Given the description of an element on the screen output the (x, y) to click on. 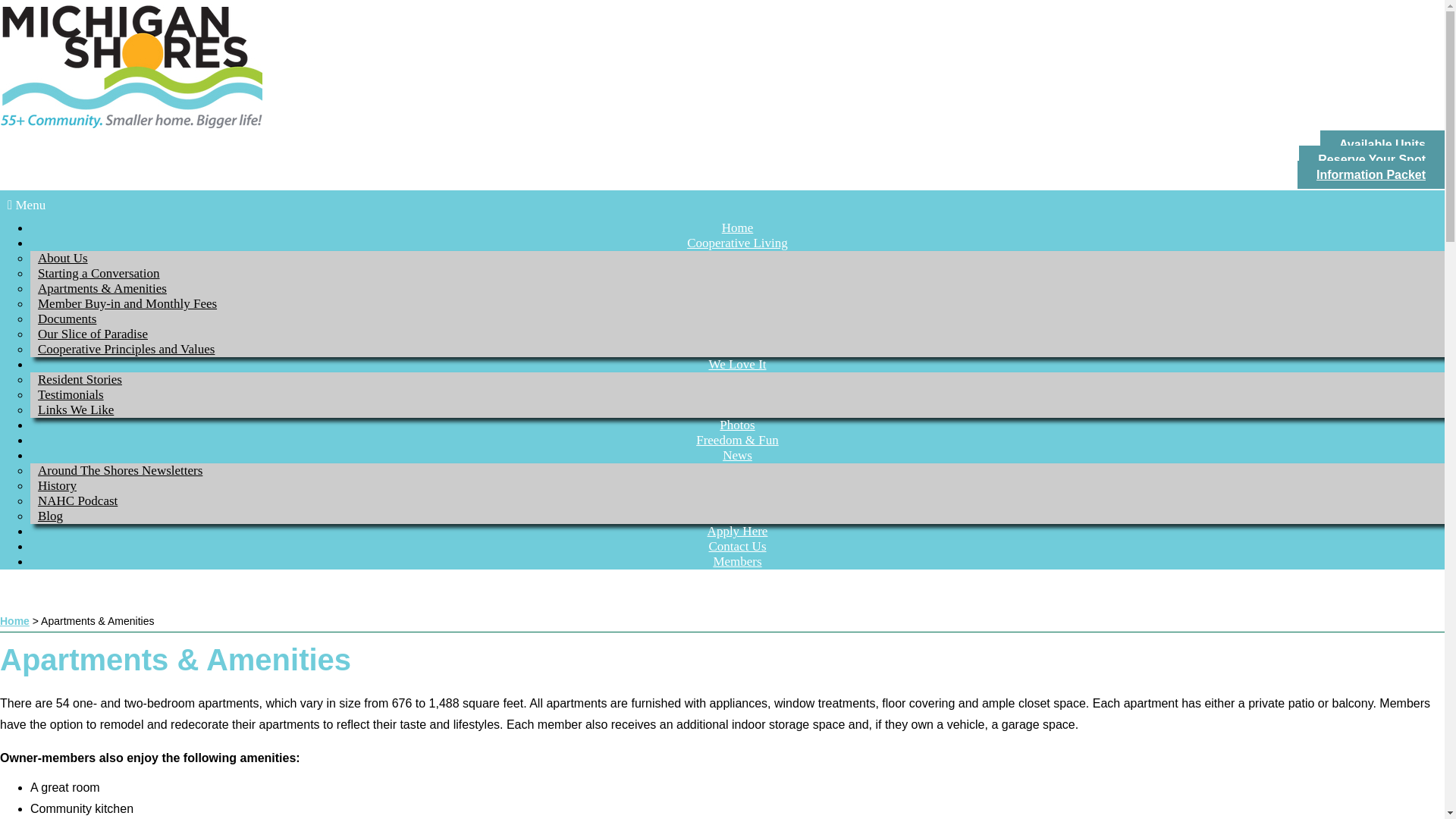
Links We Like (75, 409)
Apply Here (737, 531)
Cooperative Living (737, 242)
Starting a Conversation (98, 273)
Documents (66, 318)
Member Buy-in and Monthly Fees (127, 303)
Testimonials (71, 394)
We Love It (736, 364)
Home (737, 227)
Our Slice of Paradise (92, 333)
Resident Stories (79, 378)
NAHC Podcast (77, 500)
Home (14, 621)
Contact Us (736, 546)
News (737, 455)
